Given the description of an element on the screen output the (x, y) to click on. 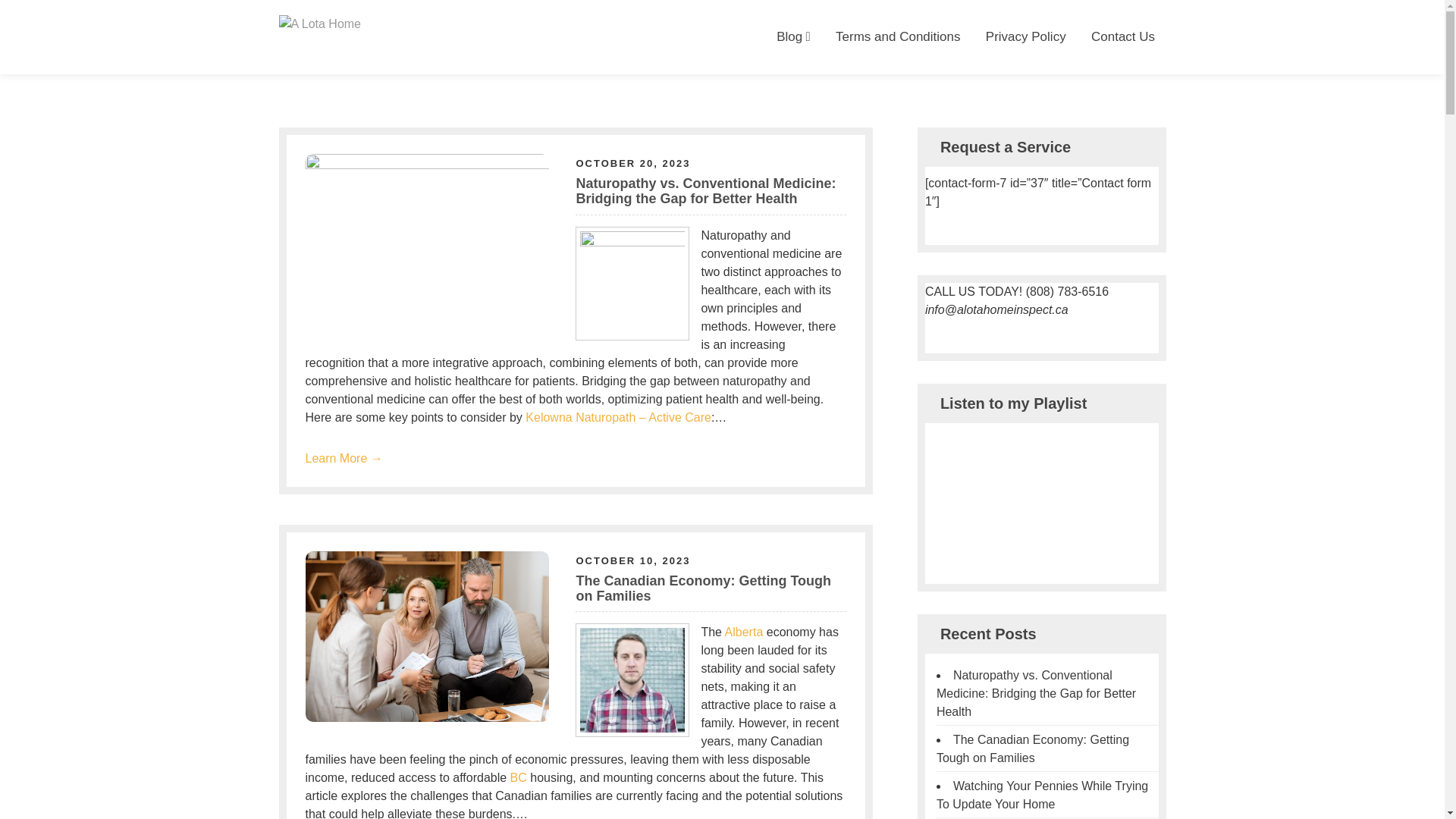
The Canadian Economy: Getting Tough on Families Element type: text (1032, 748)
A Lota Home Element type: text (318, 60)
Watching Your Pennies While Trying To Update Your Home Element type: text (1042, 794)
Contact Us Element type: text (1123, 36)
Alberta Element type: text (743, 631)
BC Element type: text (518, 777)
Privacy Policy Element type: text (1025, 36)
The Canadian Economy: Getting Tough on Families Element type: text (703, 588)
Blog Element type: text (793, 36)
Terms and Conditions Element type: text (898, 36)
